Given the description of an element on the screen output the (x, y) to click on. 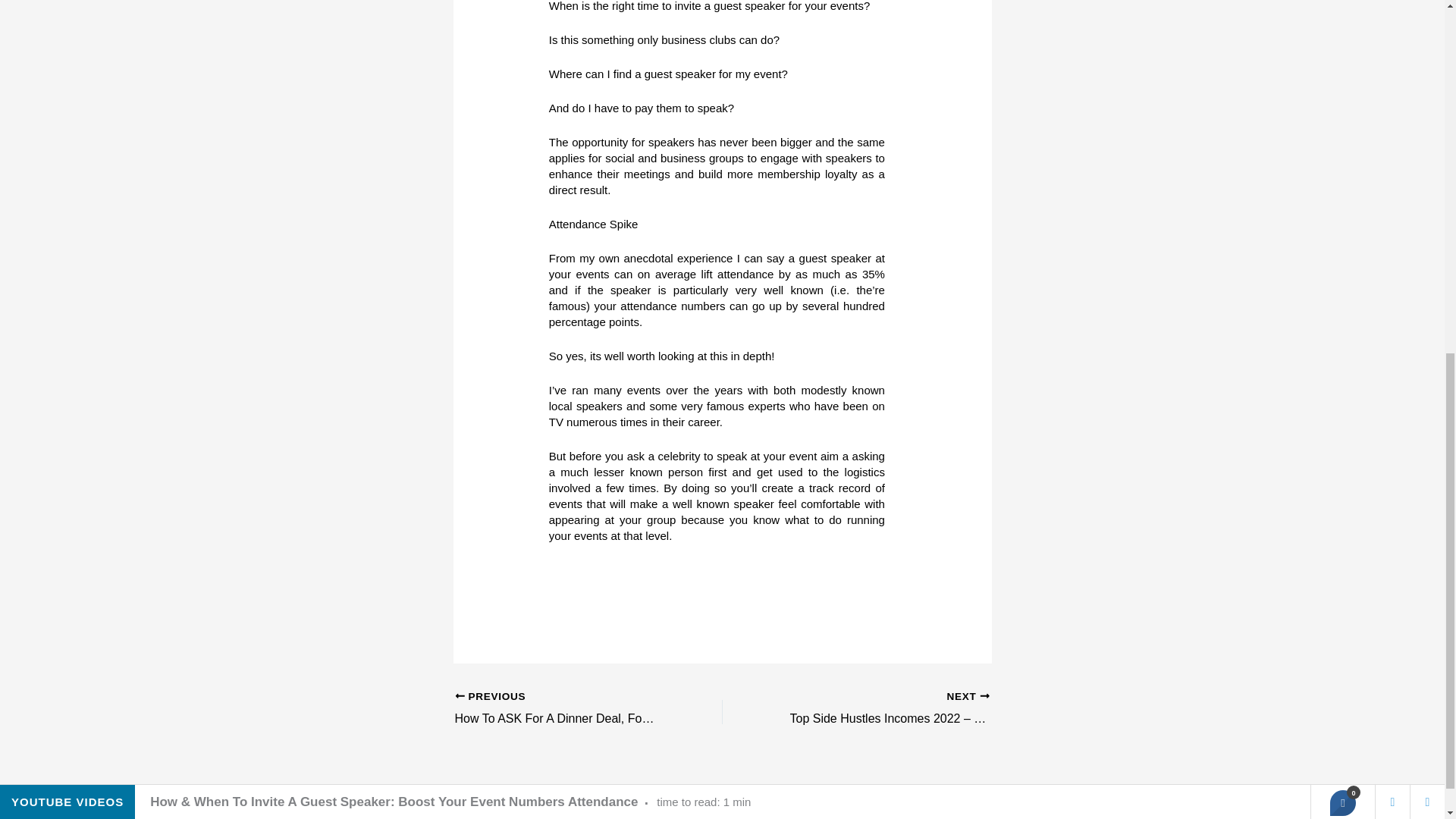
YOUTUBE VIDEOS (67, 157)
Share on Facebook (1342, 158)
0 (1342, 158)
Privacy Policy (922, 801)
